Given the description of an element on the screen output the (x, y) to click on. 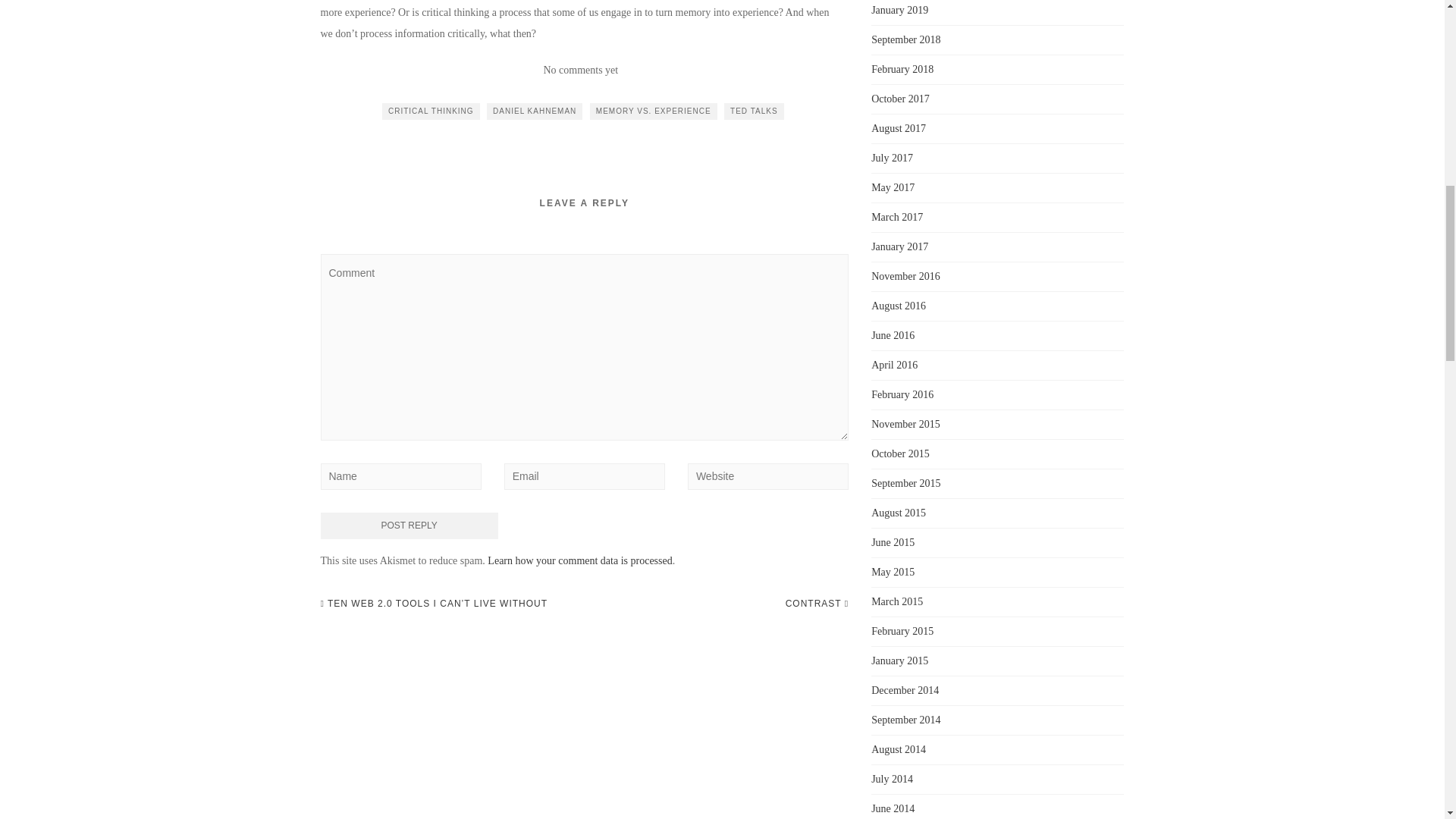
CRITICAL THINKING (430, 111)
No comments yet (580, 70)
DANIEL KAHNEMAN (534, 111)
TED TALKS (753, 111)
January 2019 (899, 9)
February 2018 (901, 69)
Post Reply (408, 525)
MEMORY VS. EXPERIENCE (653, 111)
Post Reply (408, 525)
CONTRAST (817, 603)
July 2017 (891, 157)
Learn how your comment data is processed (579, 560)
August 2017 (898, 128)
September 2018 (905, 39)
October 2017 (900, 98)
